Given the description of an element on the screen output the (x, y) to click on. 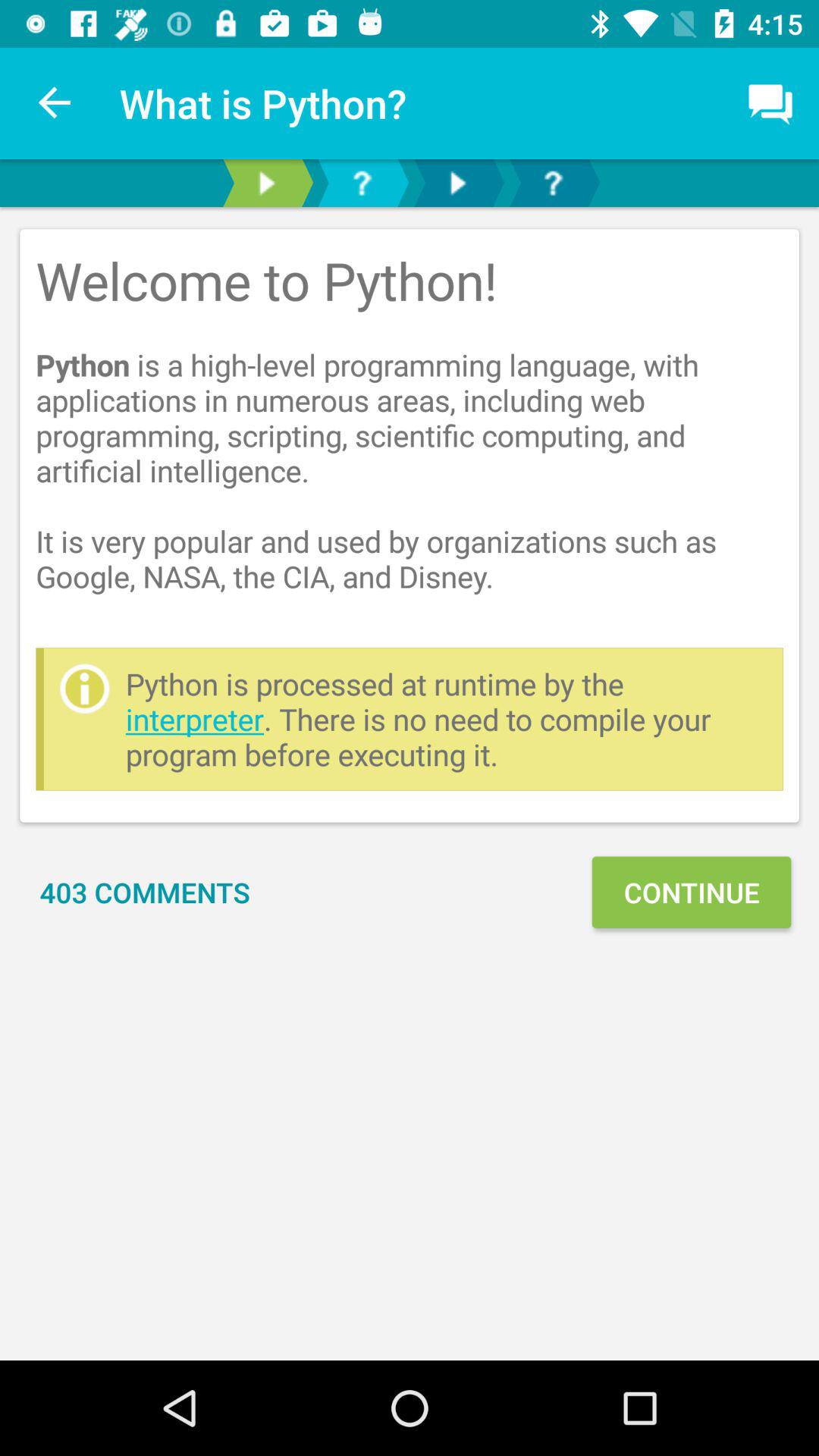
go to help (361, 183)
